Given the description of an element on the screen output the (x, y) to click on. 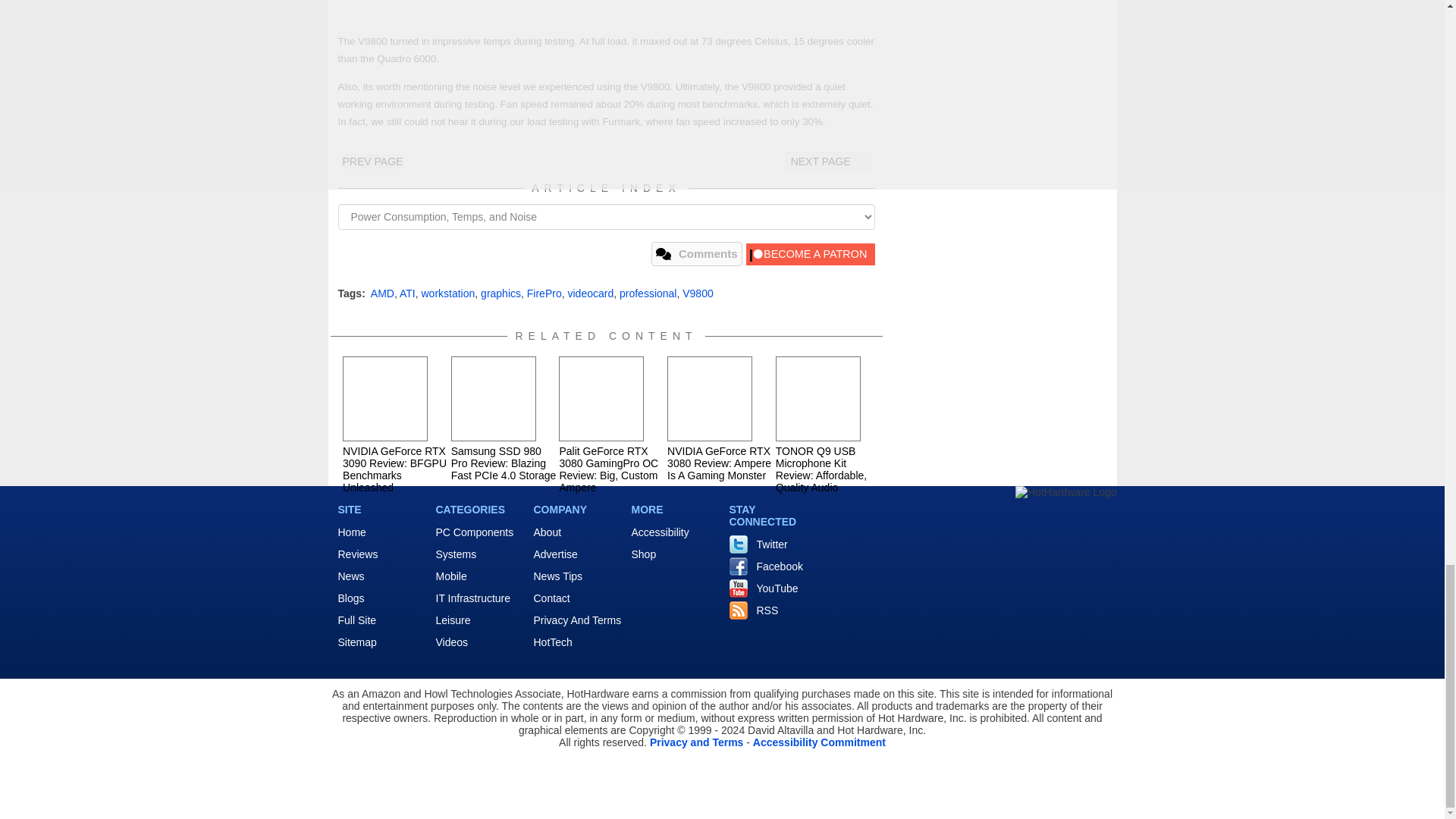
Samsung SSD 980 Pro Review: Blazing Fast PCIe 4.0 Storage (493, 398)
NVIDIA GeForce RTX 3090 Review: BFGPU Benchmarks Unleashed (384, 398)
Comments (696, 253)
NVIDIA GeForce RTX 3080 Review: Ampere Is A Gaming Monster (709, 398)
